Given the description of an element on the screen output the (x, y) to click on. 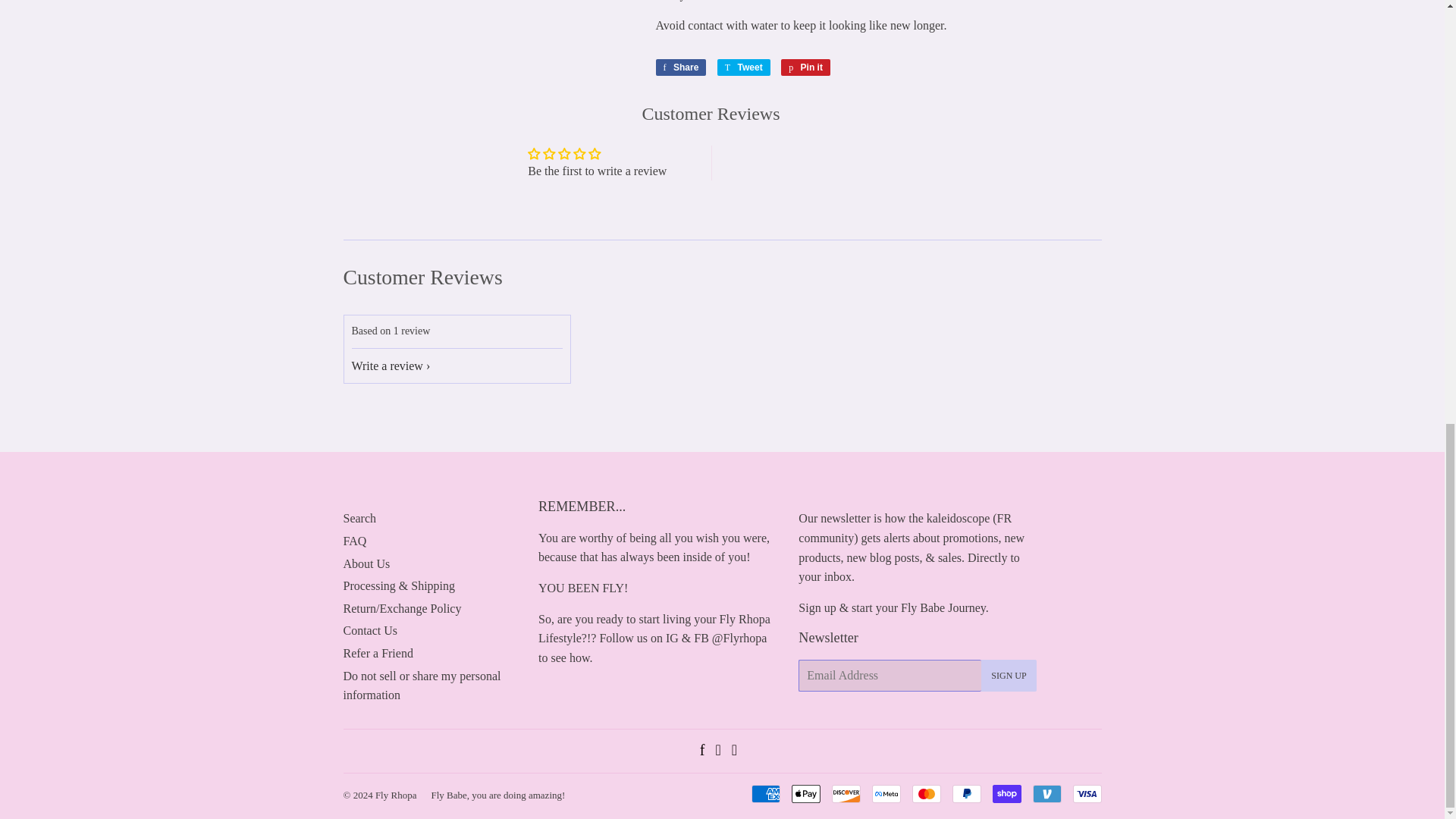
Meta Pay (886, 793)
PayPal (966, 793)
Shop Pay (1005, 793)
Share on Facebook (680, 67)
Discover (845, 793)
Tweet on Twitter (743, 67)
Pin on Pinterest (804, 67)
American Express (764, 793)
Mastercard (925, 793)
Venmo (1046, 793)
Visa (1085, 793)
Apple Pay (806, 793)
